Given the description of an element on the screen output the (x, y) to click on. 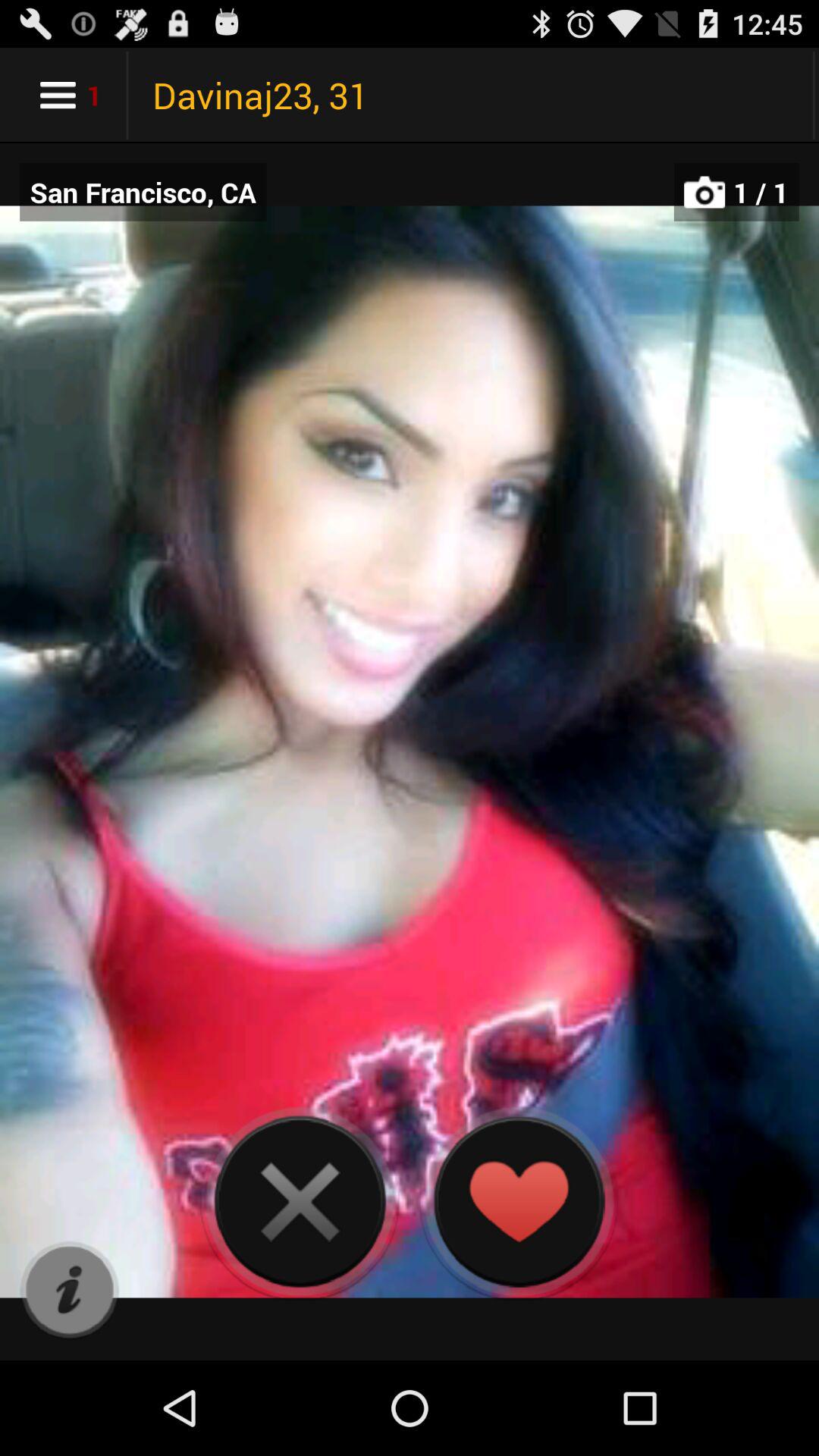
get information (69, 1290)
